Given the description of an element on the screen output the (x, y) to click on. 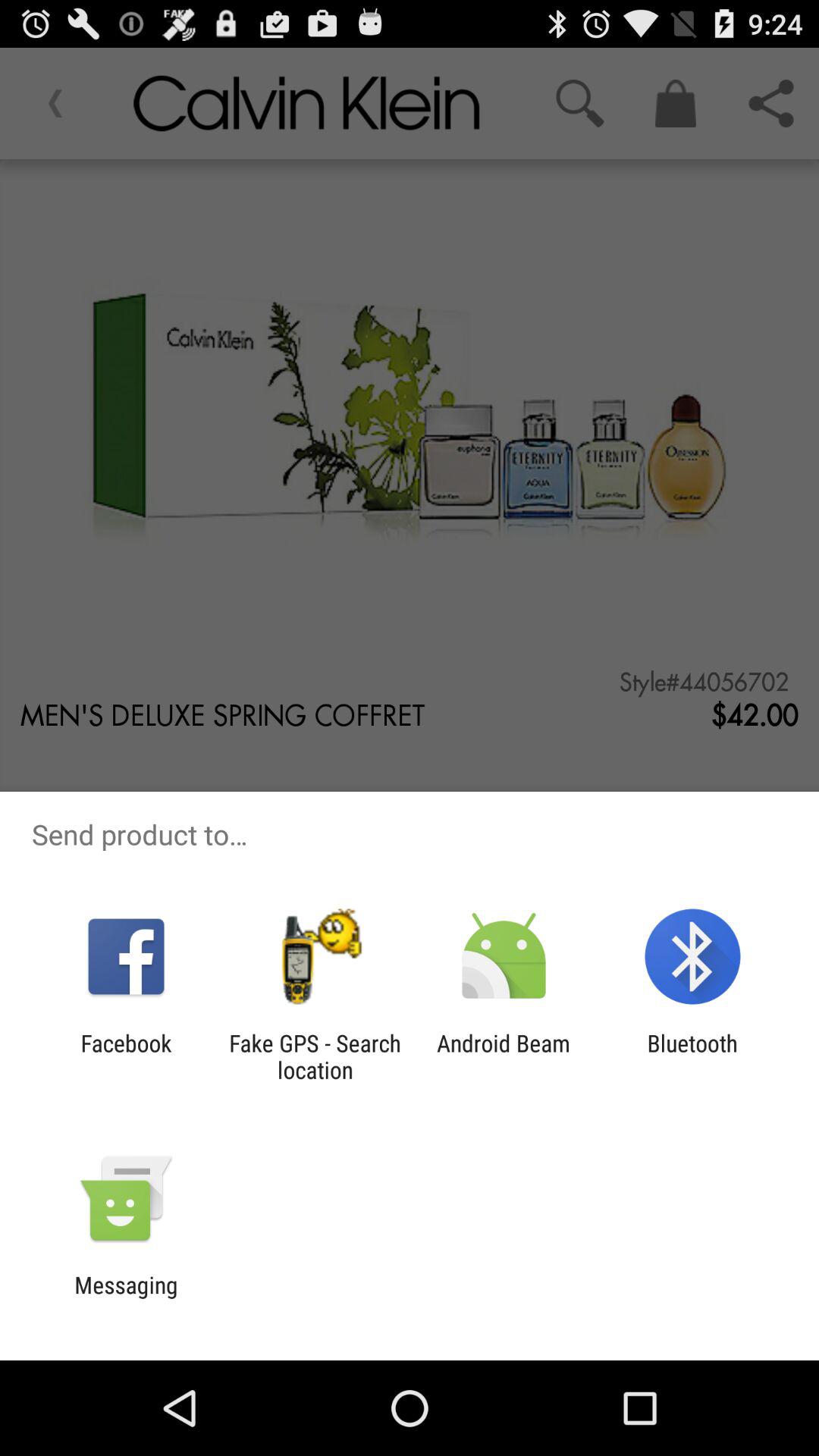
launch the messaging (126, 1298)
